Given the description of an element on the screen output the (x, y) to click on. 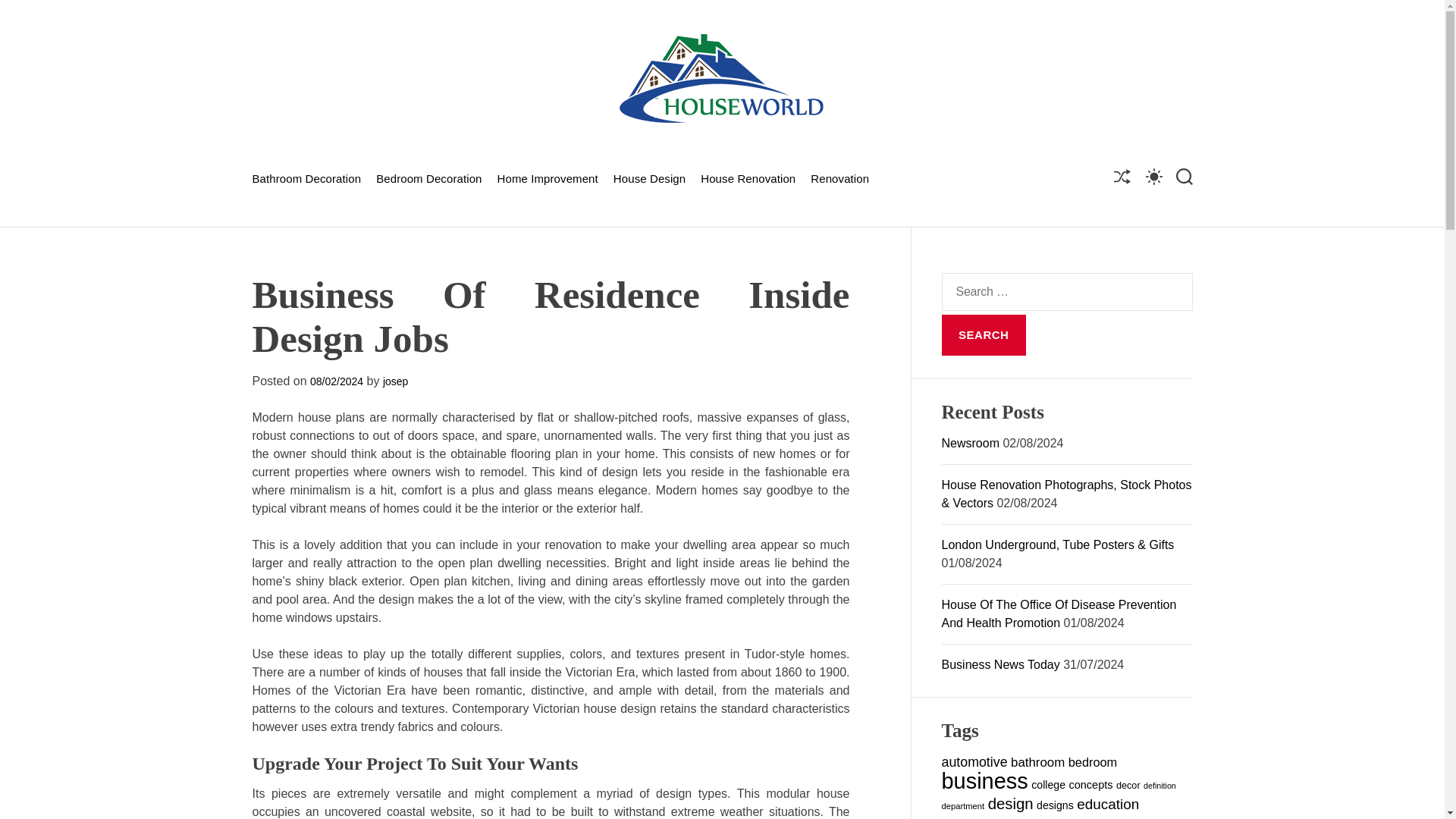
Bathroom Decoration (306, 177)
House Design (648, 177)
Bedroom Decoration (428, 177)
Search (984, 334)
House Renovation (747, 177)
josep (394, 381)
Renovation (839, 177)
Search (984, 334)
Home Improvement (547, 177)
SWITCH COLOR MODE (1152, 175)
Newsroom (970, 442)
Search (984, 334)
